Given the description of an element on the screen output the (x, y) to click on. 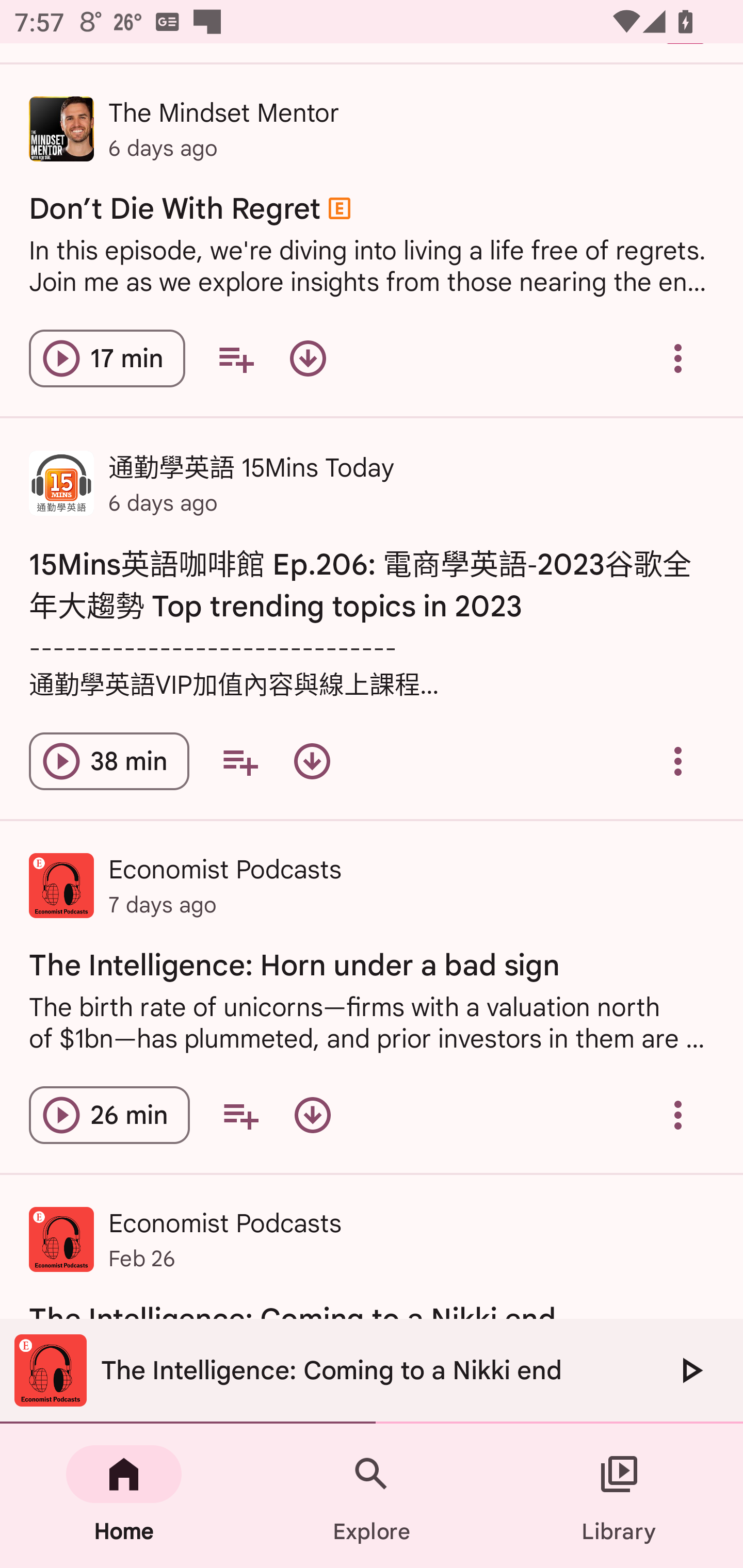
Play episode Don’t Die With Regret 17 min (106, 358)
Add to your queue (235, 358)
Download episode (307, 358)
Overflow menu (677, 358)
Add to your queue (239, 761)
Download episode (312, 761)
Overflow menu (677, 761)
Add to your queue (240, 1115)
Download episode (312, 1115)
Overflow menu (677, 1115)
Play (690, 1370)
Explore (371, 1495)
Library (619, 1495)
